Given the description of an element on the screen output the (x, y) to click on. 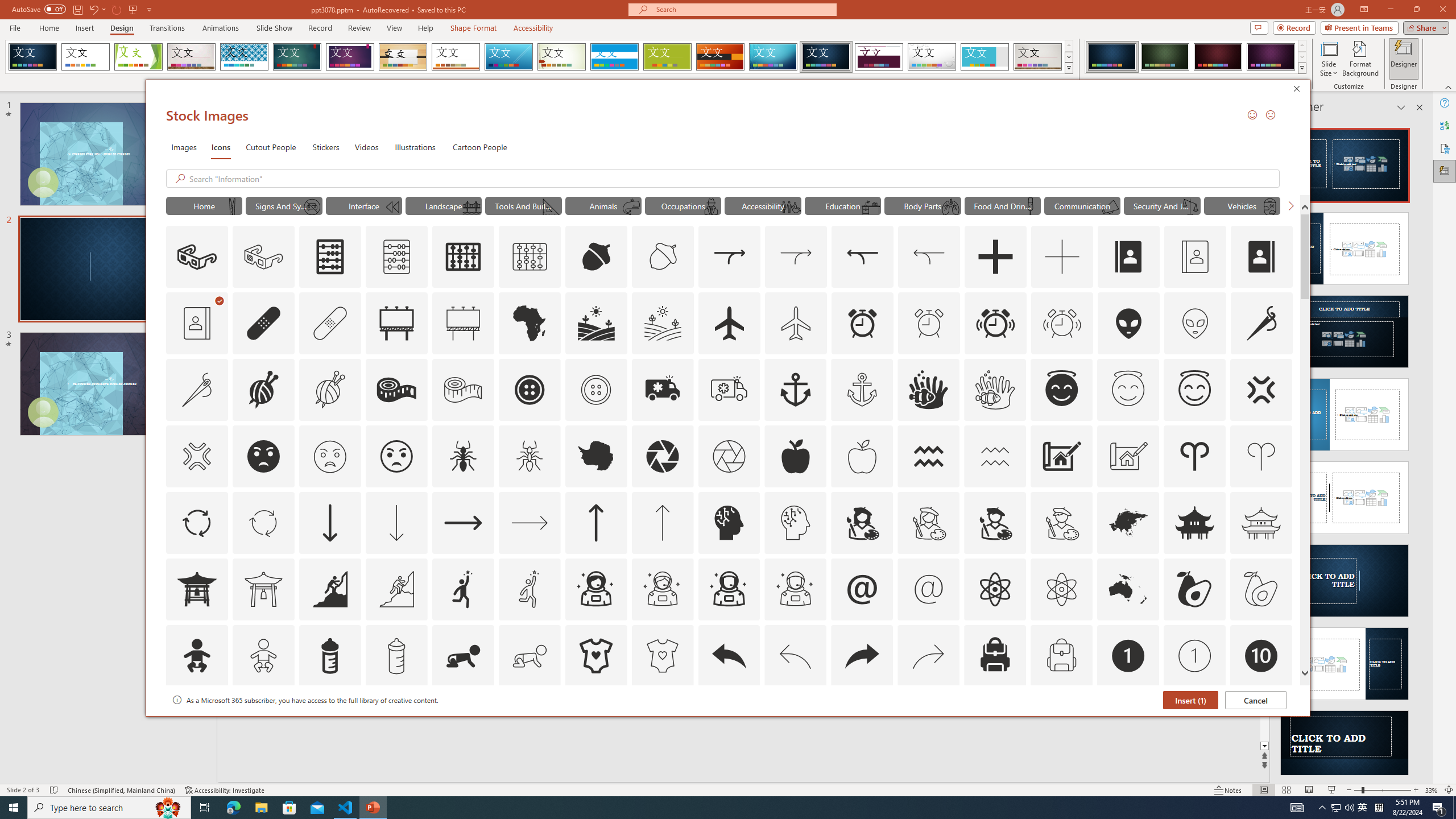
AutomationID: Icons_Back_LTR_M (795, 655)
